Given the description of an element on the screen output the (x, y) to click on. 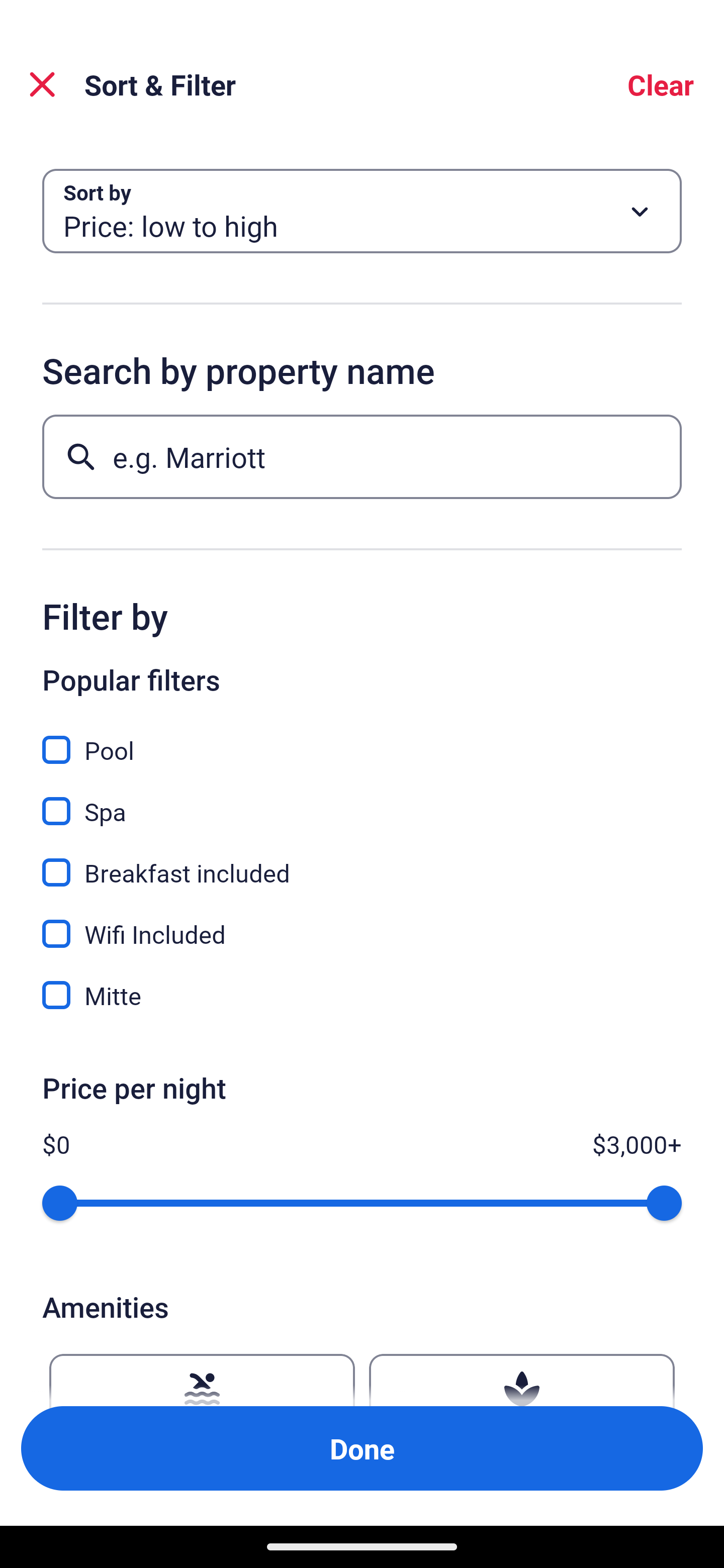
Close Sort and Filter (42, 84)
Clear (660, 84)
Sort by Button Price: low to high (361, 211)
e.g. Marriott Button (361, 455)
Pool, Pool (361, 738)
Spa, Spa (361, 800)
Breakfast included, Breakfast included (361, 861)
Wifi Included, Wifi Included (361, 922)
Mitte, Mitte (361, 995)
Apply and close Sort and Filter Done (361, 1448)
